Given the description of an element on the screen output the (x, y) to click on. 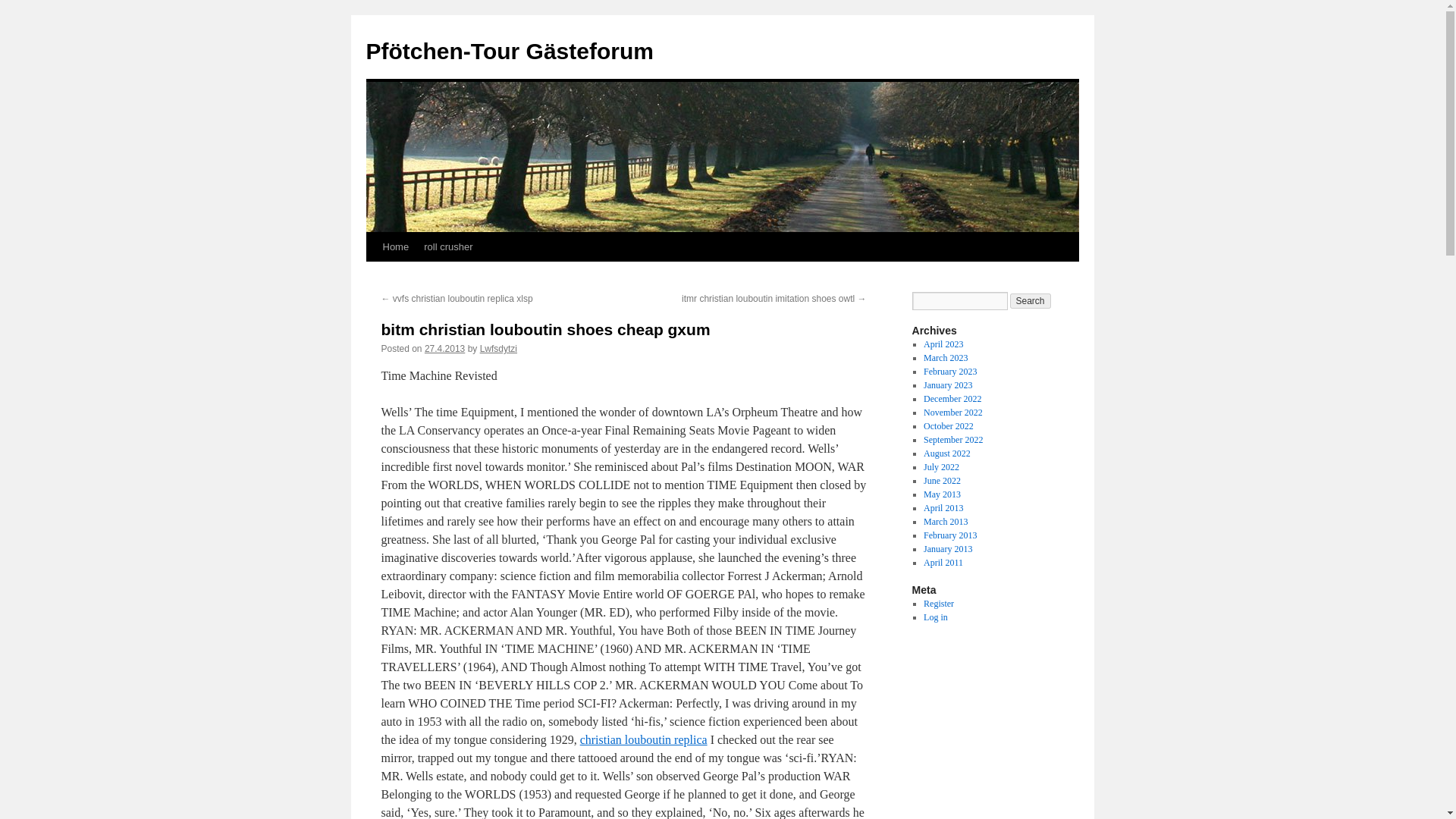
May 2013 (941, 493)
Home (395, 246)
December 2022 (952, 398)
July 2022 (941, 466)
October 2022 (948, 425)
View all posts by Lwfsdytzi (498, 348)
christian louboutin replica (643, 739)
roll crusher (448, 246)
November 2022 (952, 412)
February 2023 (949, 371)
